Given the description of an element on the screen output the (x, y) to click on. 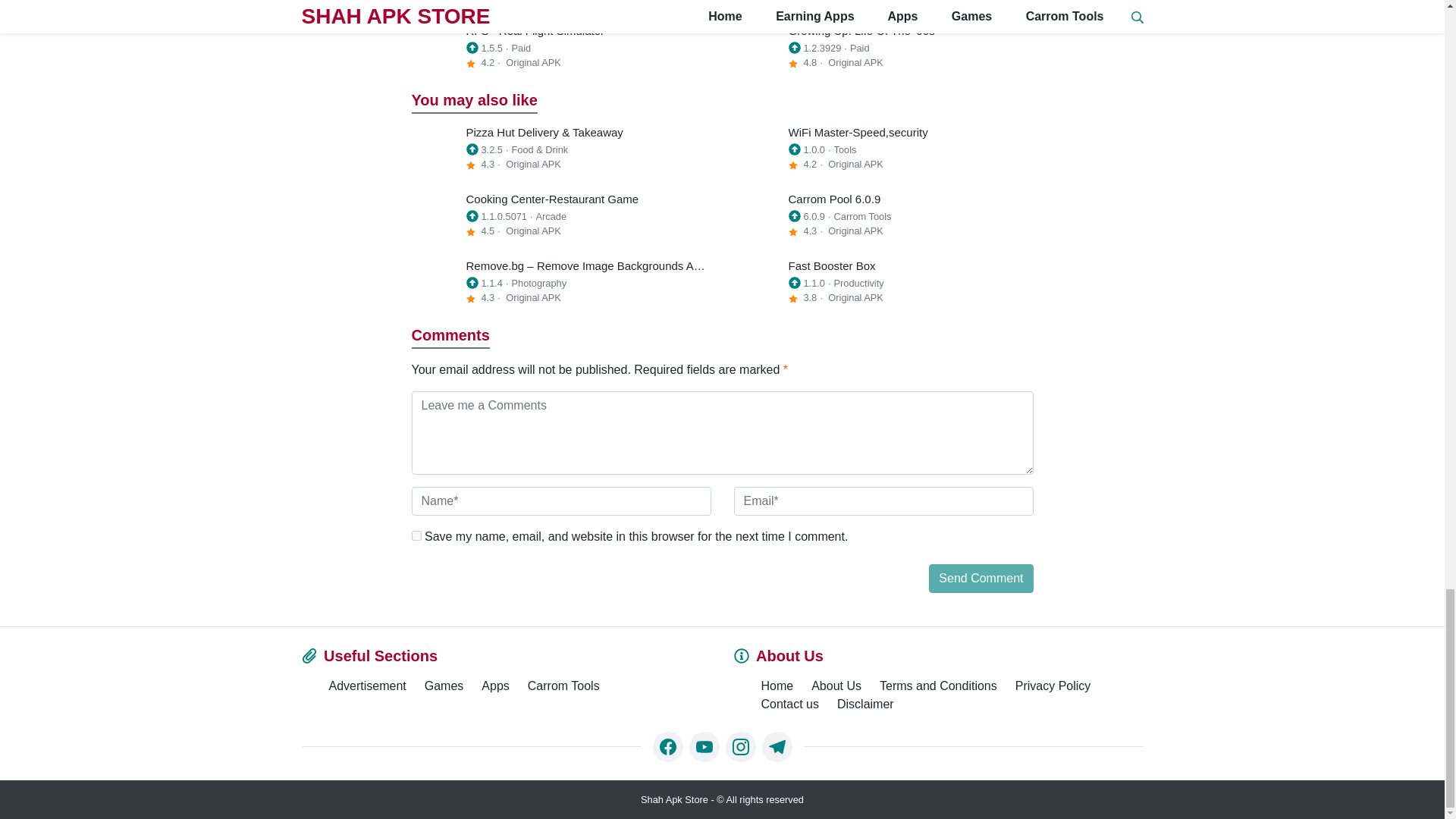
Cooking Center-Restaurant Game  (560, 216)
RFS - Real Flight Simulator  (560, 48)
WiFi Master-Speed,security  (883, 150)
Dragon City Mobile  (560, 2)
Fast Booster Box  (883, 283)
Carrom Pool 6.0.9 (883, 216)
SimCity BuildIt  (883, 2)
Send Comment (980, 578)
yes (415, 535)
